Given the description of an element on the screen output the (x, y) to click on. 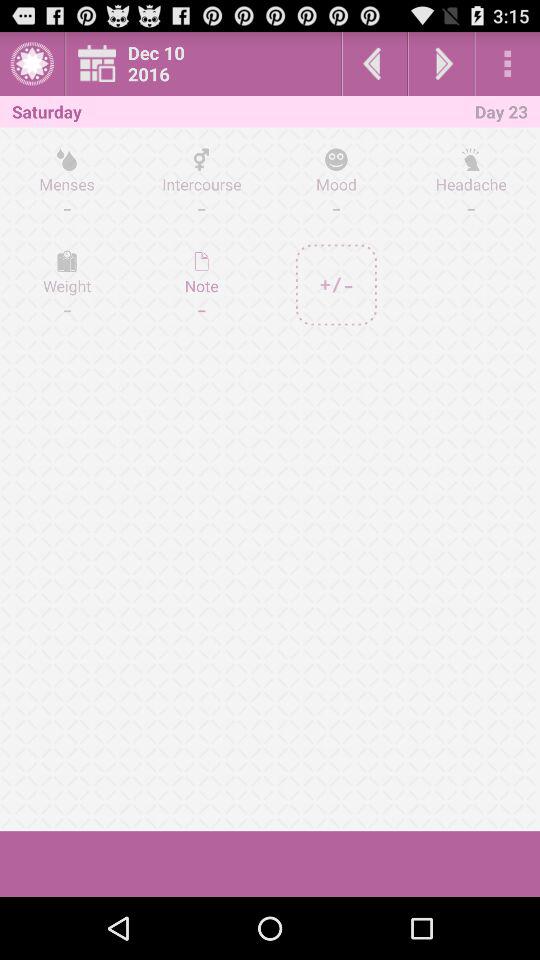
launch item next to the mood
_ (201, 284)
